Given the description of an element on the screen output the (x, y) to click on. 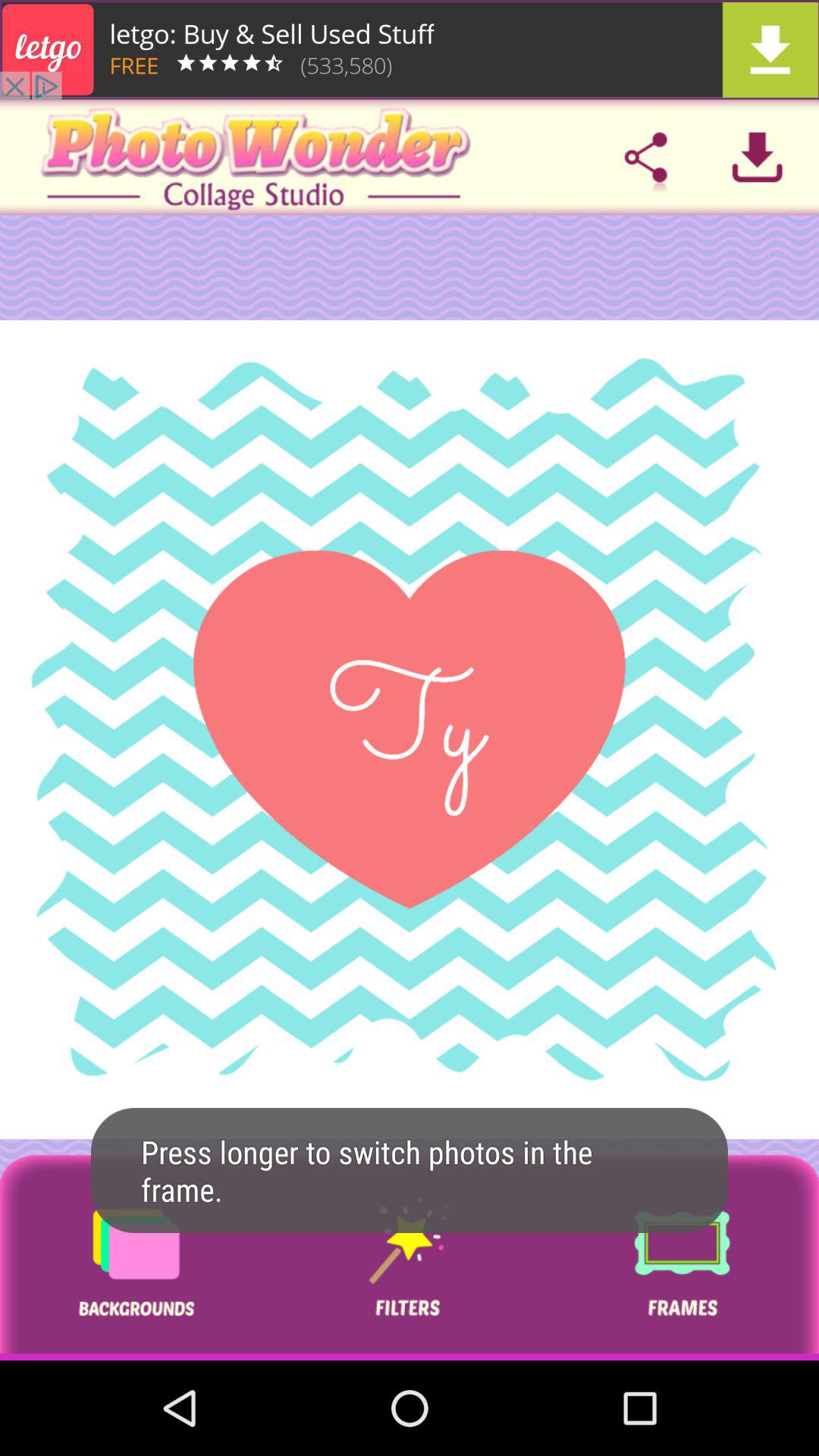
view advertisement (409, 49)
